Given the description of an element on the screen output the (x, y) to click on. 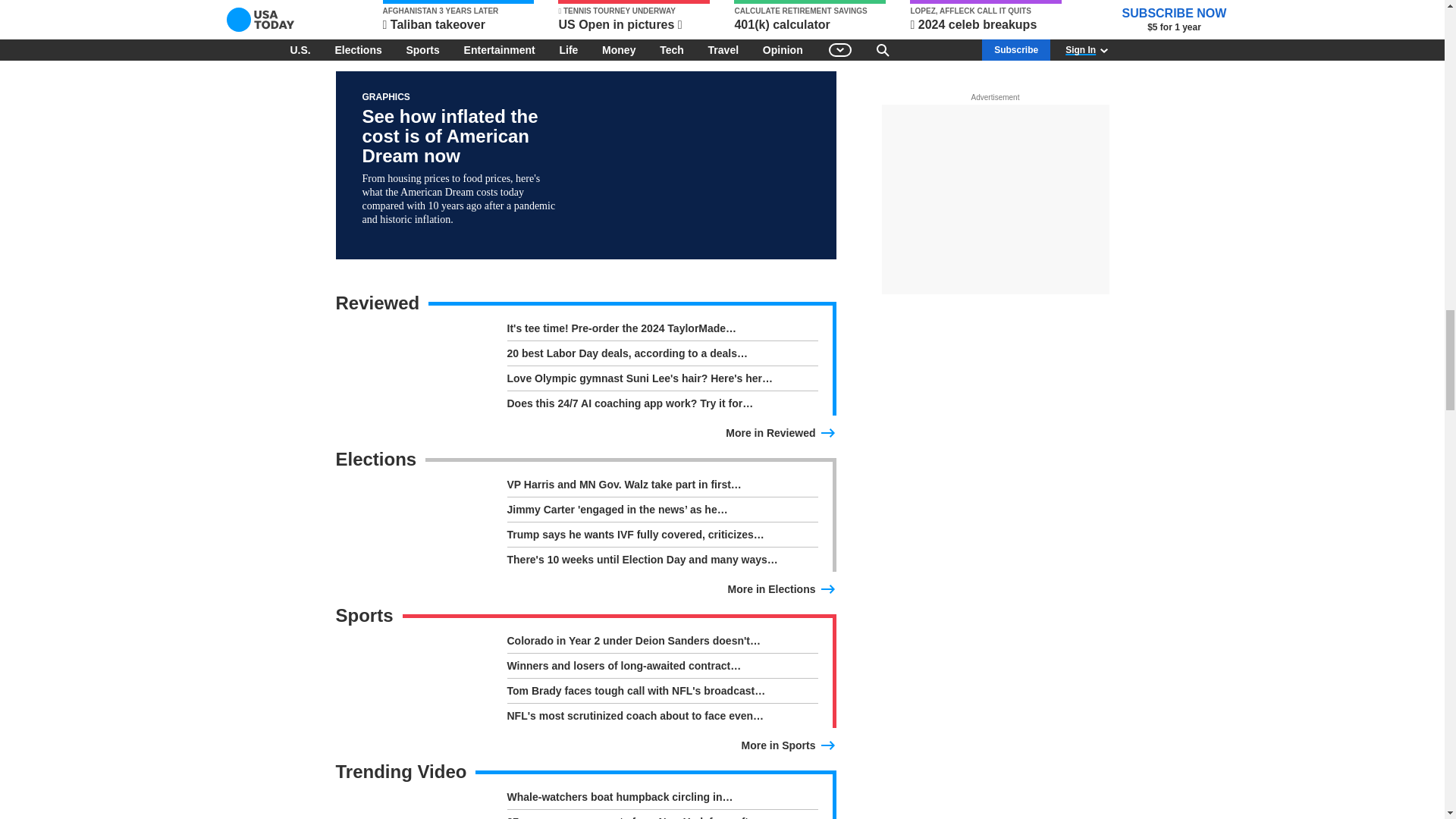
20 best Labor Day deals, according to a deals editor (661, 356)
Love Olympic gymnast Suni Lee's hair? Here's her secret (661, 381)
